Given the description of an element on the screen output the (x, y) to click on. 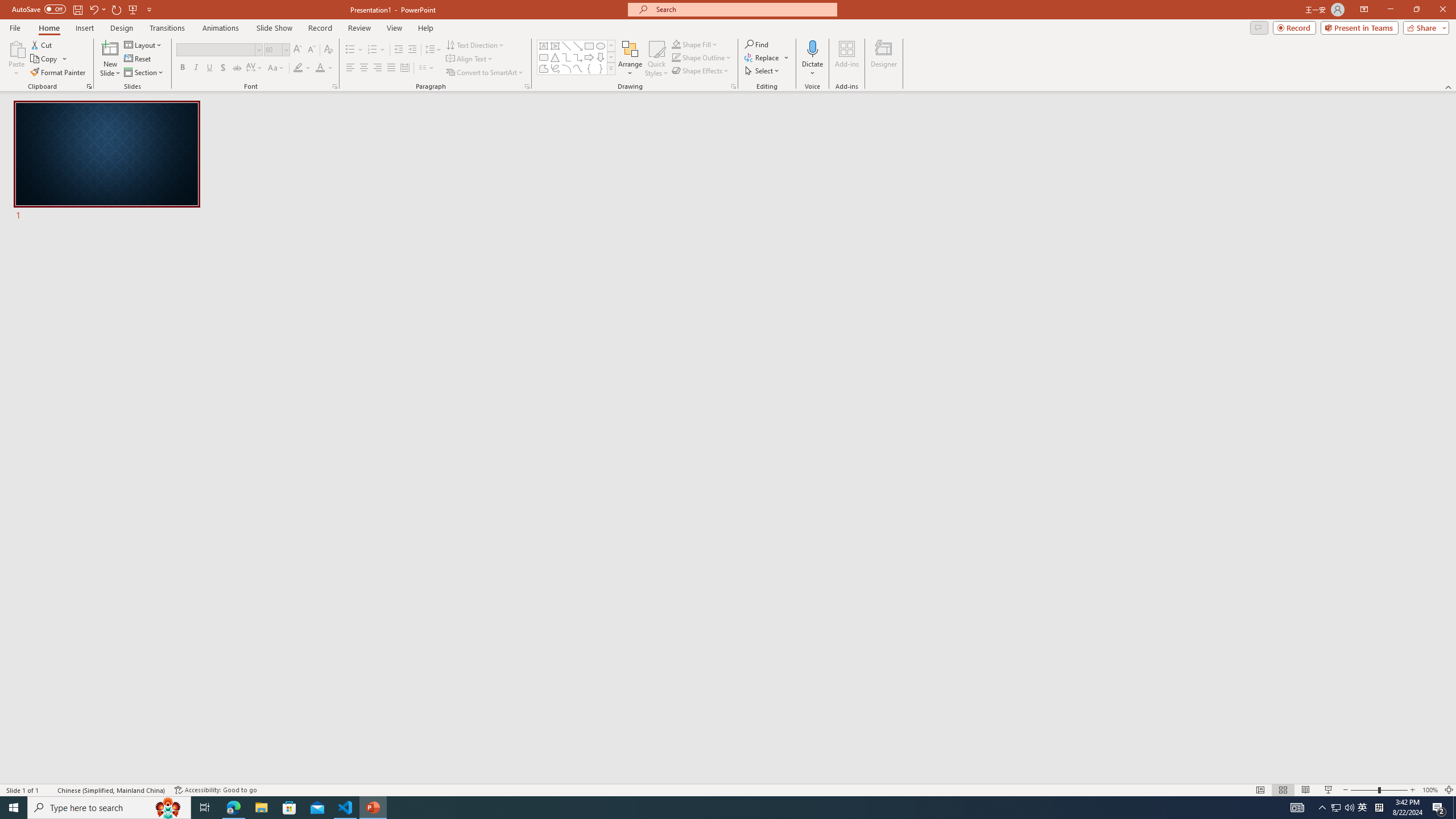
Shape Fill Orange, Accent 2 (675, 44)
